Given the description of an element on the screen output the (x, y) to click on. 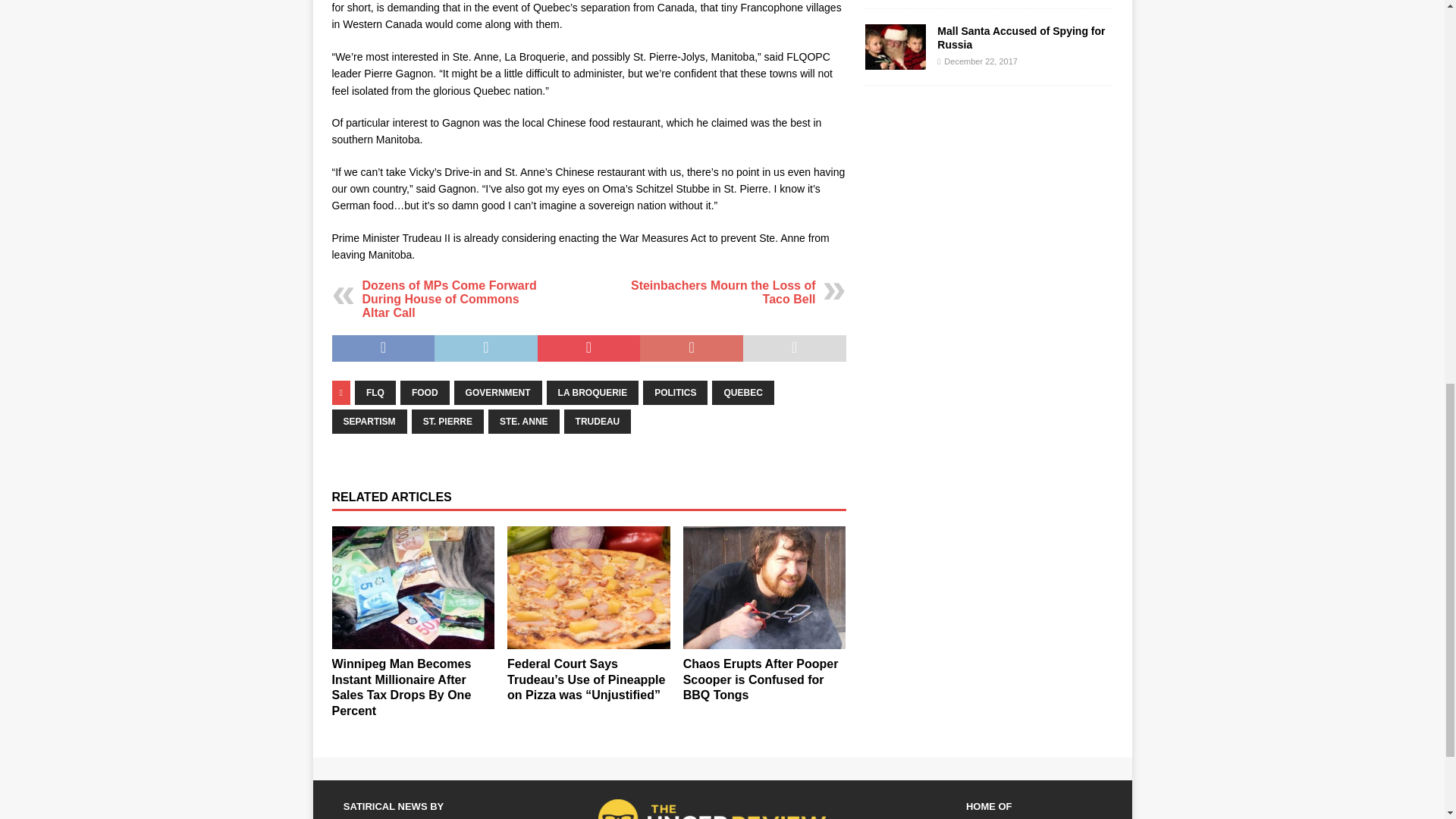
Chaos Erupts After Pooper Scooper is Confused for BBQ Tongs (763, 587)
Steinbachers Mourn the Loss of Taco Bell (722, 292)
